Given the description of an element on the screen output the (x, y) to click on. 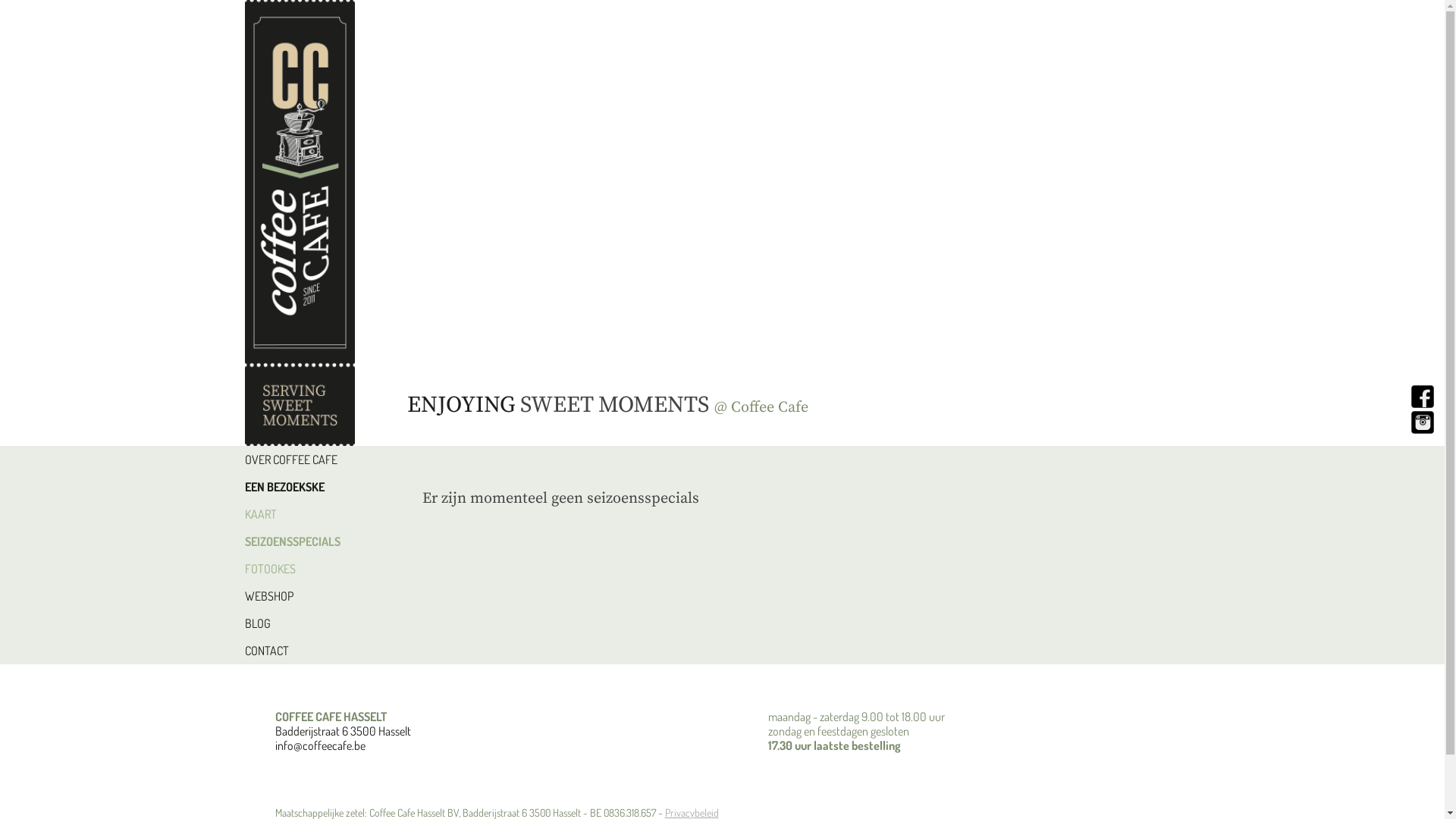
SEIZOENSSPECIALS Element type: text (310, 541)
info@coffeecafe.be Element type: text (319, 745)
EEN BEZOEKSKE Element type: text (310, 486)
Badderijstraat 6 3500 Hasselt Element type: text (342, 730)
WEBSHOP Element type: text (310, 595)
FOTOOKES Element type: text (310, 568)
KAART Element type: text (310, 513)
OVER COFFEE CAFE Element type: text (310, 459)
BLOG Element type: text (310, 623)
CONTACT Element type: text (310, 650)
